Given the description of an element on the screen output the (x, y) to click on. 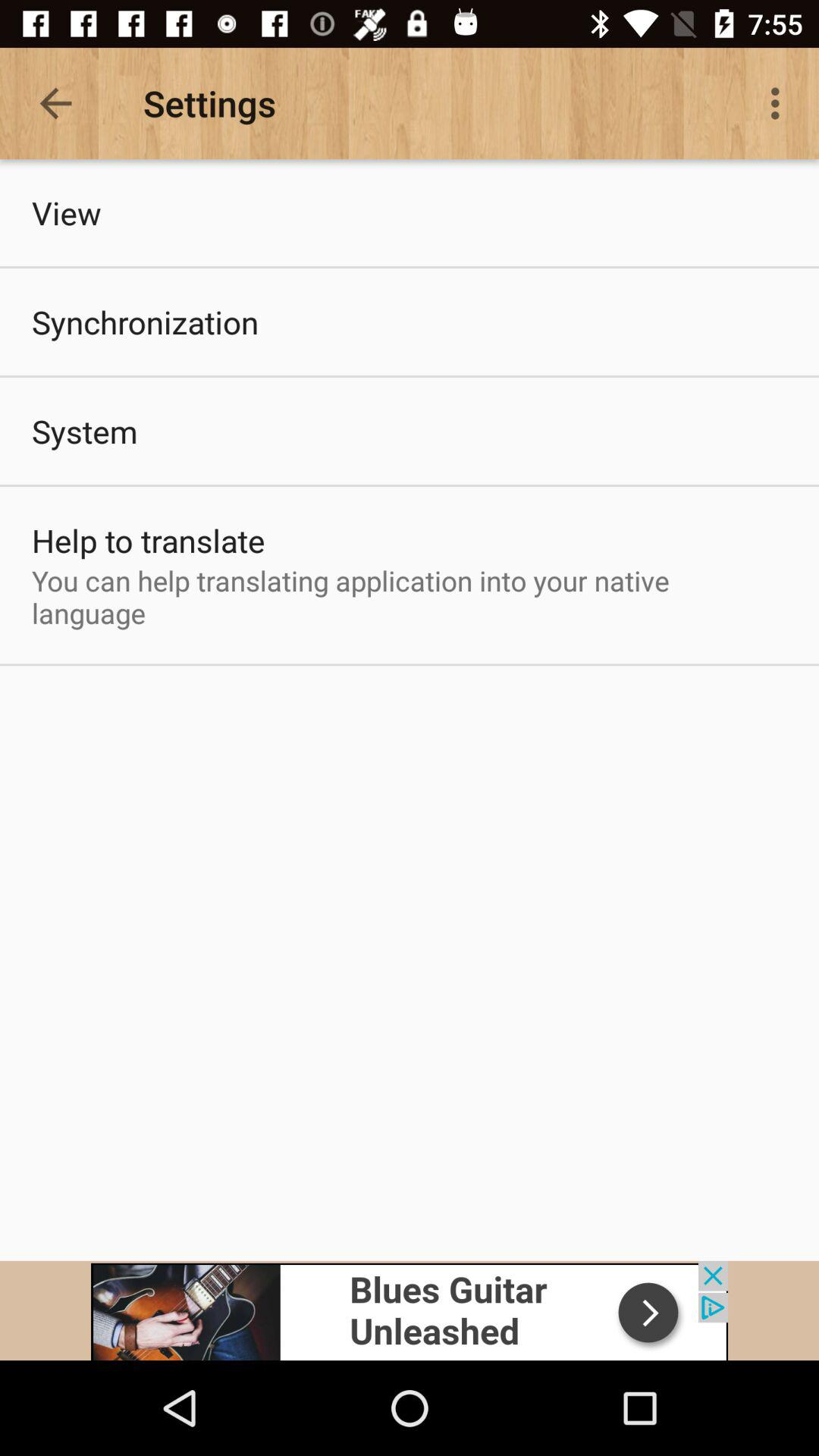
open advertisement (409, 1310)
